Given the description of an element on the screen output the (x, y) to click on. 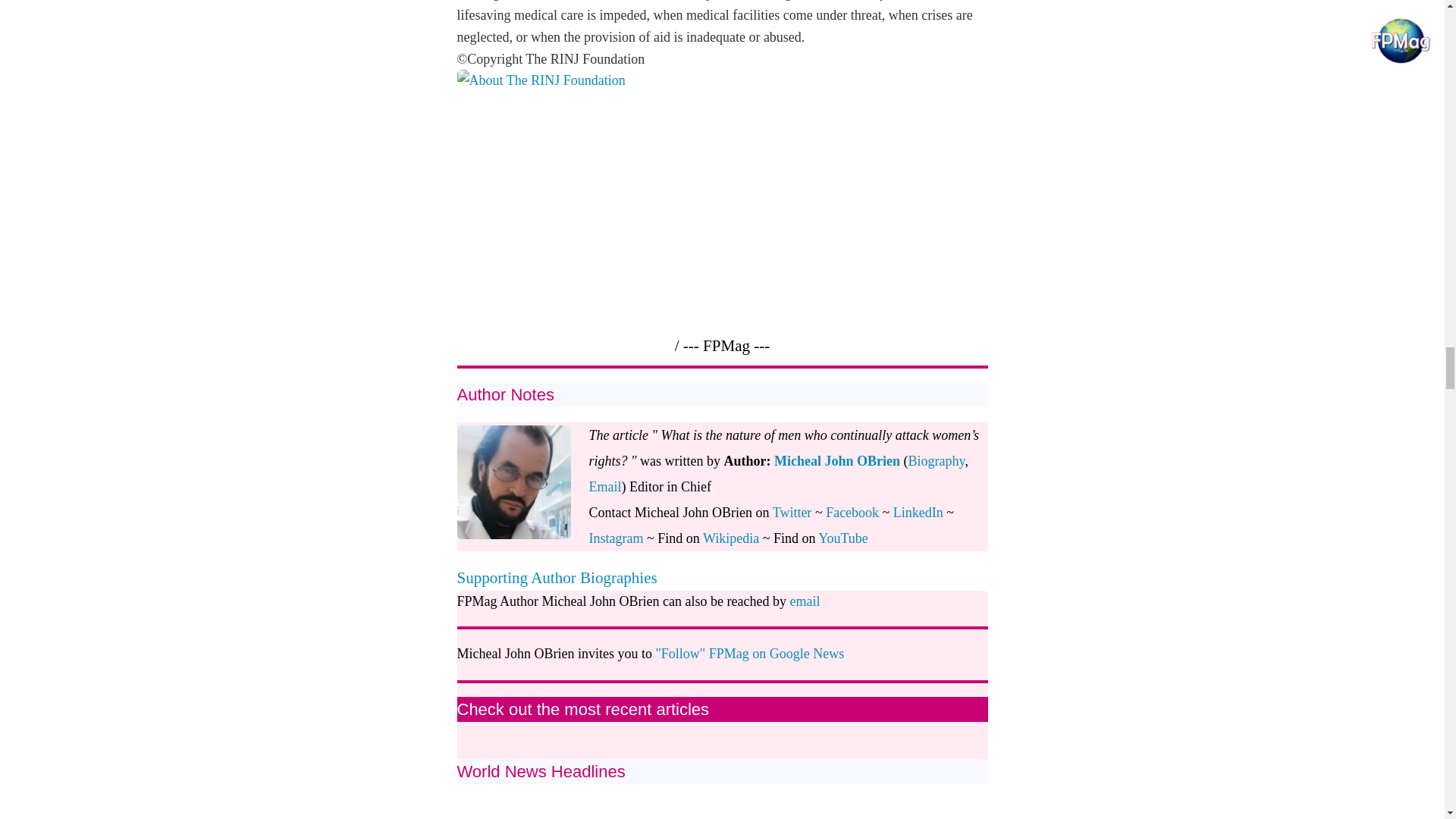
Instagram (615, 538)
Micheal John OBrien (836, 460)
Biography (936, 460)
Wikipedia (730, 538)
Twitter (792, 512)
Facebook (852, 512)
LinkedIn (918, 512)
Email (604, 486)
